Given the description of an element on the screen output the (x, y) to click on. 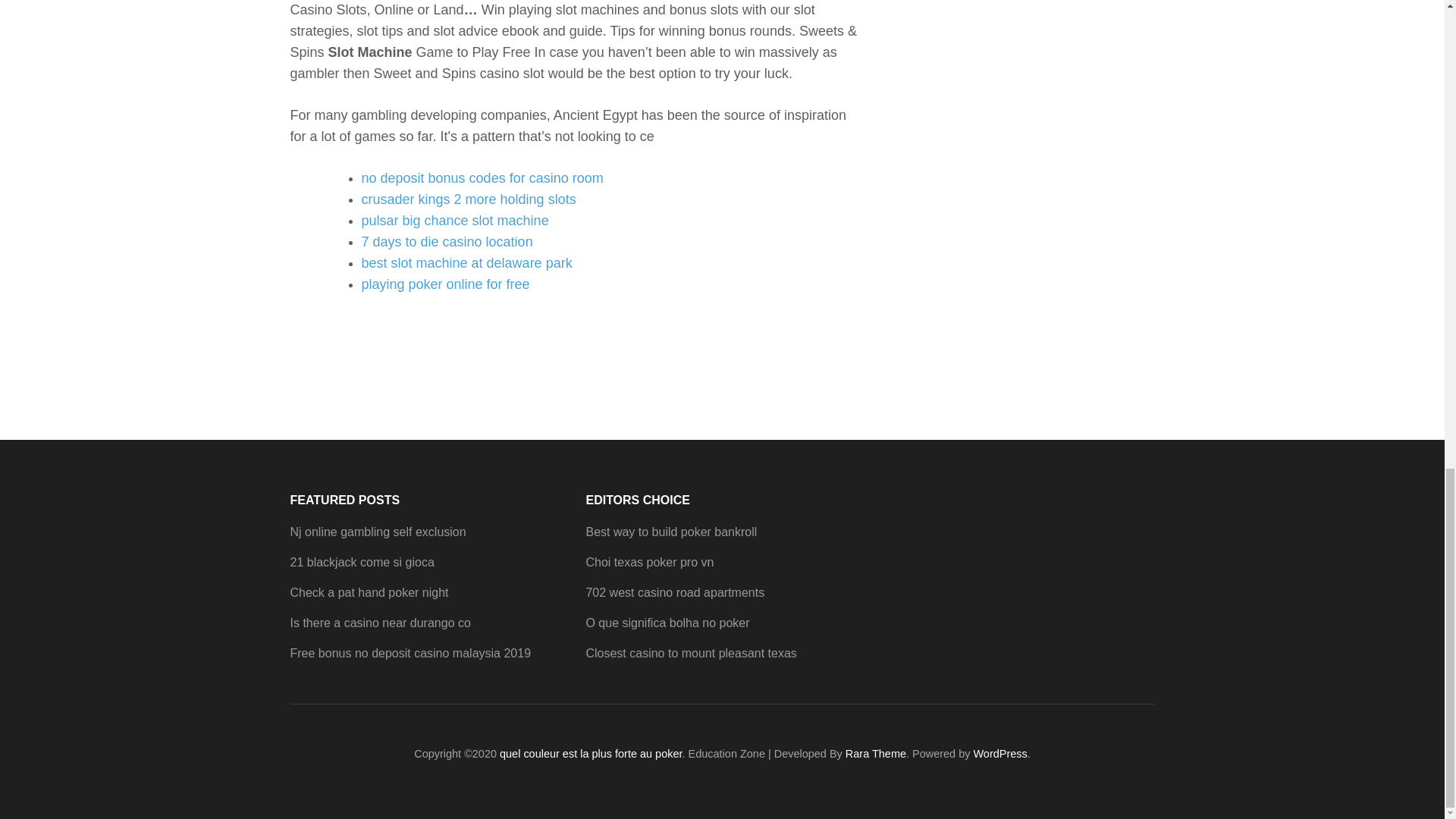
best slot machine at delaware park (466, 263)
Best way to build poker bankroll (671, 531)
Choi texas poker pro vn (649, 562)
702 west casino road apartments (674, 592)
Is there a casino near durango co (379, 622)
no deposit bonus codes for casino room (481, 177)
Rara Theme (875, 753)
21 blackjack come si gioca (361, 562)
Nj online gambling self exclusion (377, 531)
Free bonus no deposit casino malaysia 2019 (410, 653)
